Given the description of an element on the screen output the (x, y) to click on. 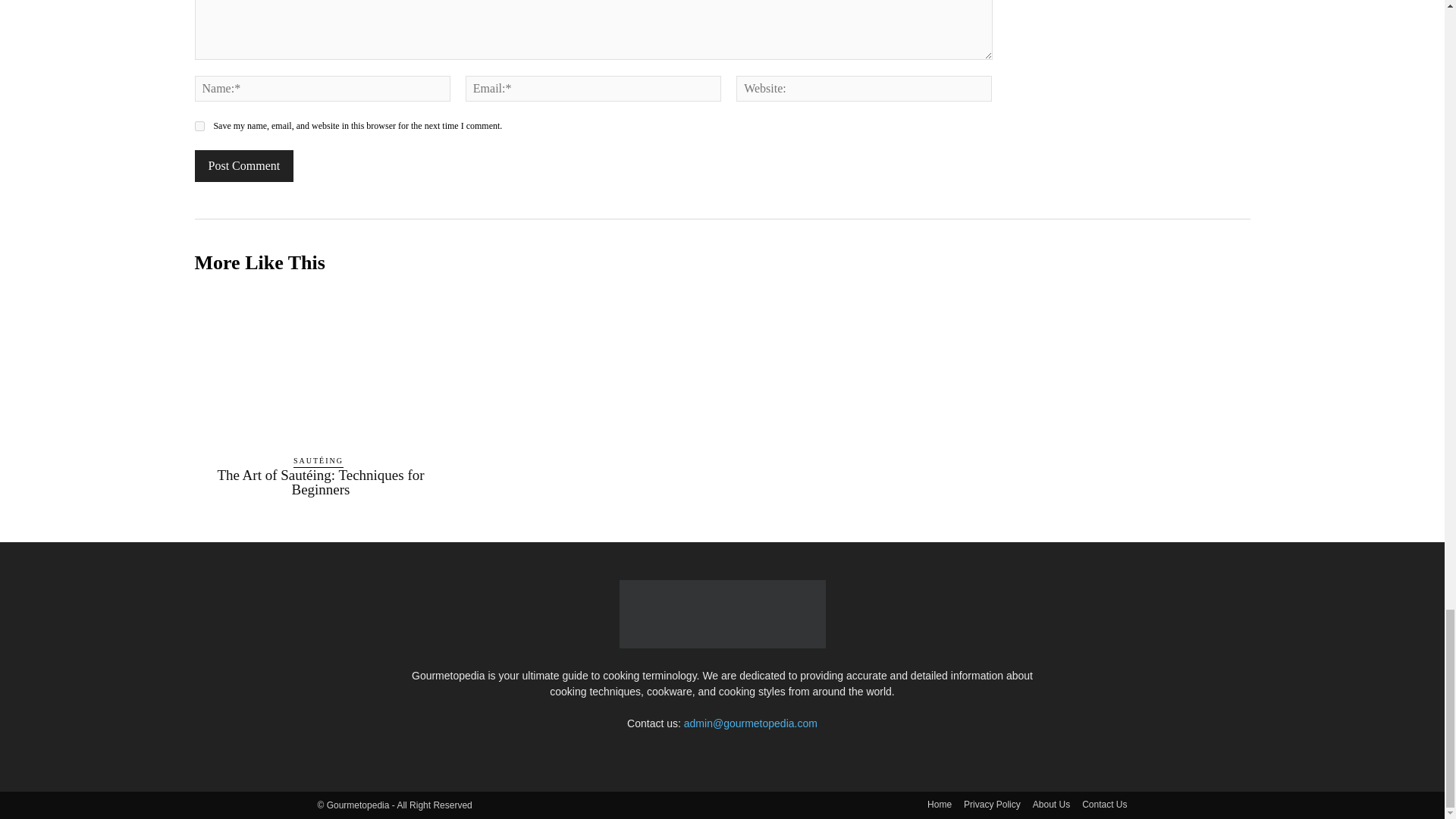
yes (198, 126)
Post Comment (243, 165)
